Given the description of an element on the screen output the (x, y) to click on. 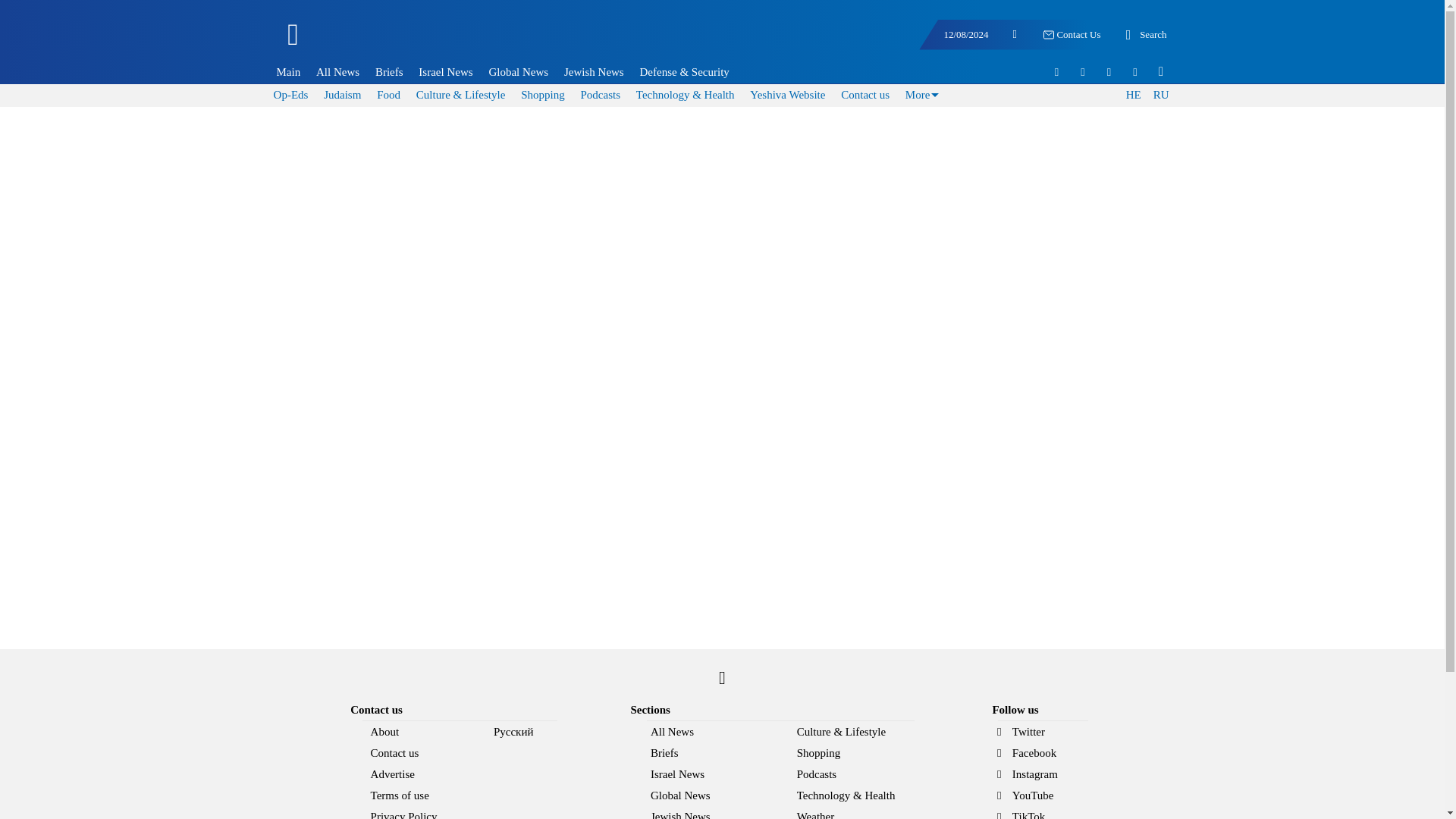
Israel National News - Arutz Sheva (373, 40)
Briefs (389, 71)
RU (1160, 95)
Food (388, 94)
Global News (518, 71)
Yeshiva Website (787, 94)
Podcasts (599, 94)
Main (287, 71)
Contact Us (1071, 34)
Shopping (542, 94)
